Given the description of an element on the screen output the (x, y) to click on. 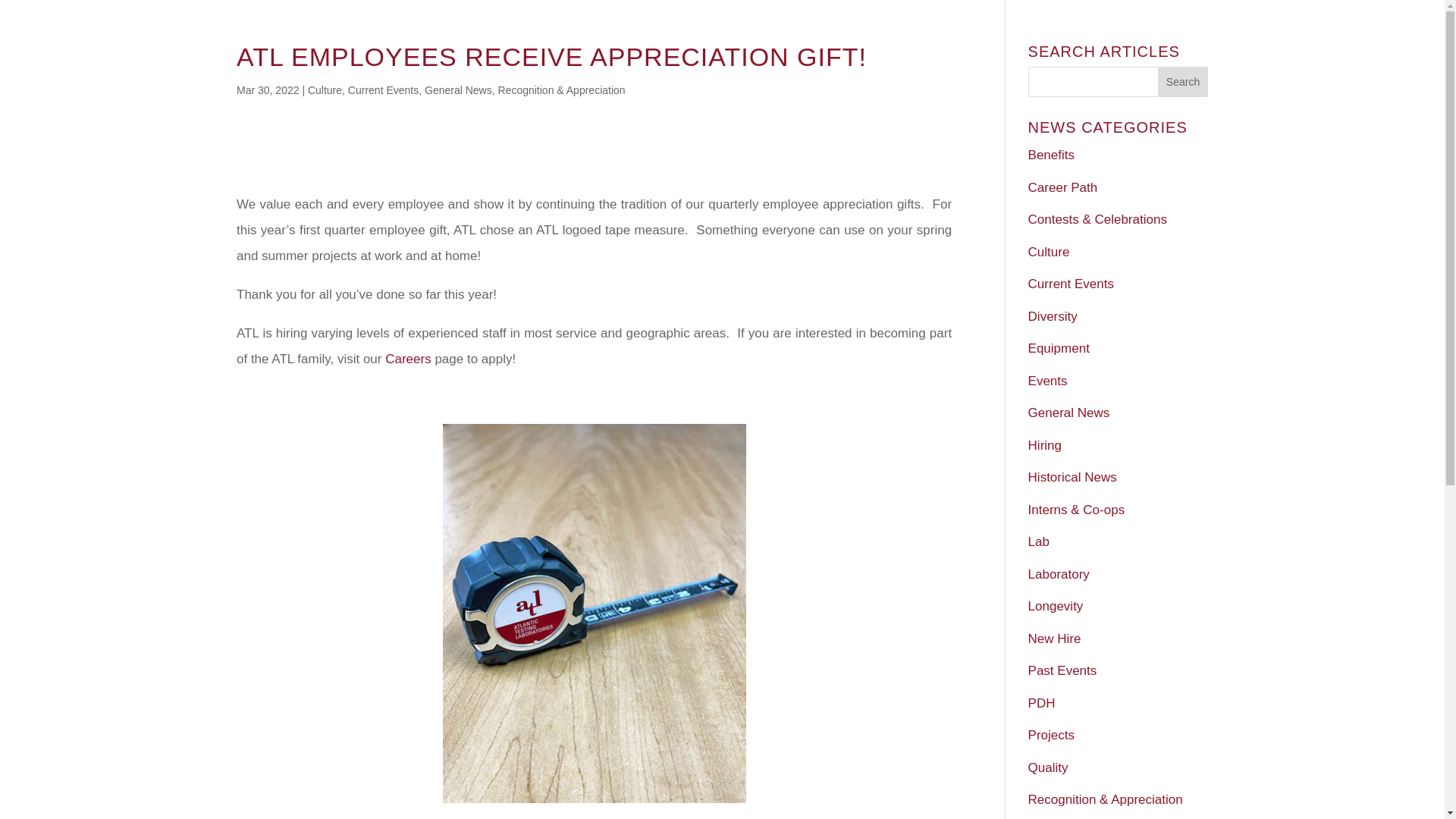
Search (1182, 81)
Current Events (383, 90)
General News (458, 90)
Careers (407, 359)
Benefits (1050, 155)
Culture (1048, 251)
Culture (324, 90)
Current Events (1070, 283)
Search (1182, 81)
Career Path (1062, 187)
